Given the description of an element on the screen output the (x, y) to click on. 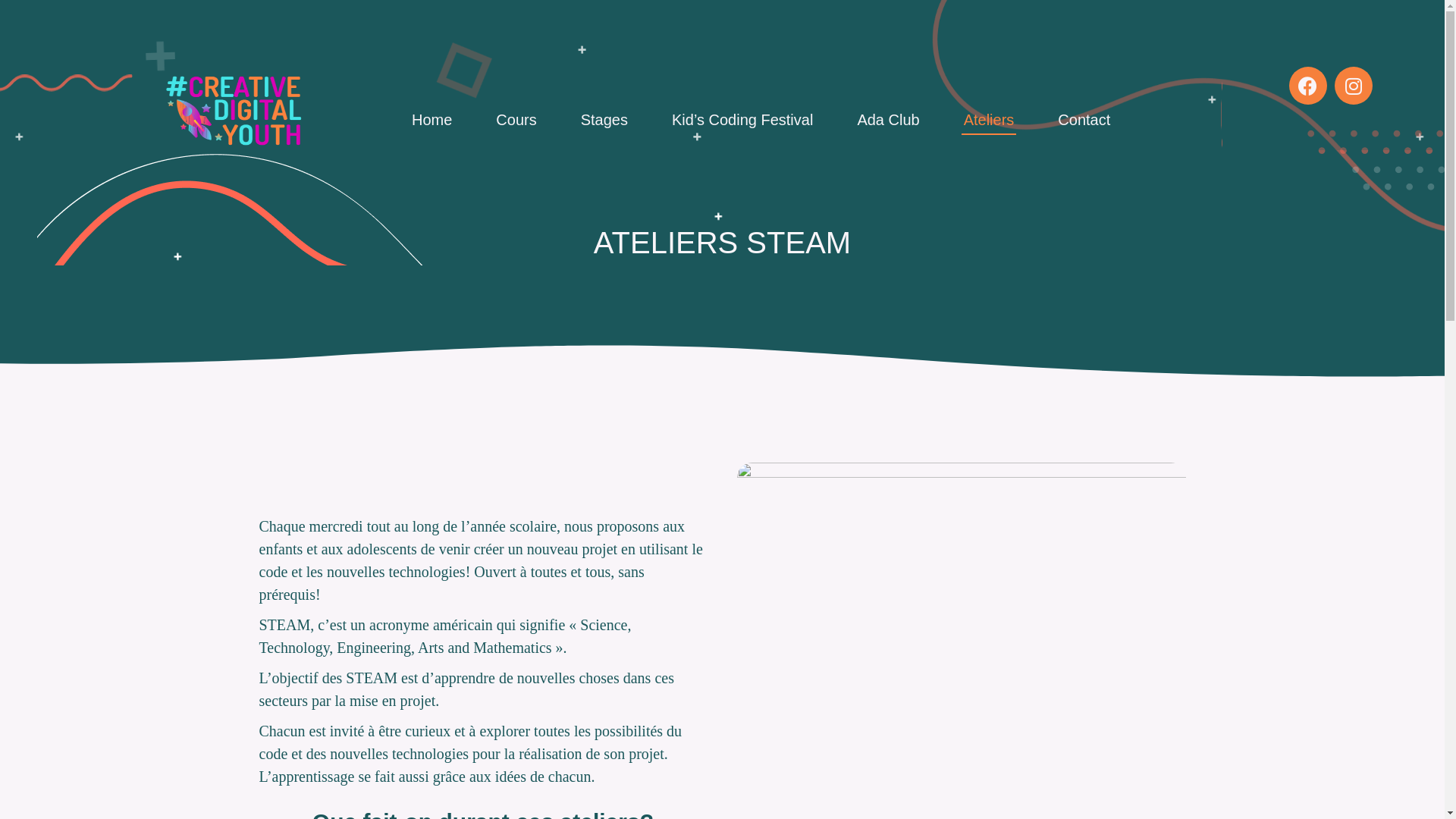
Contact Element type: text (1083, 119)
Ateliers Element type: text (988, 119)
Ada Club Element type: text (887, 119)
Stages Element type: text (604, 119)
Cours Element type: text (515, 119)
Home Element type: text (431, 119)
